Given the description of an element on the screen output the (x, y) to click on. 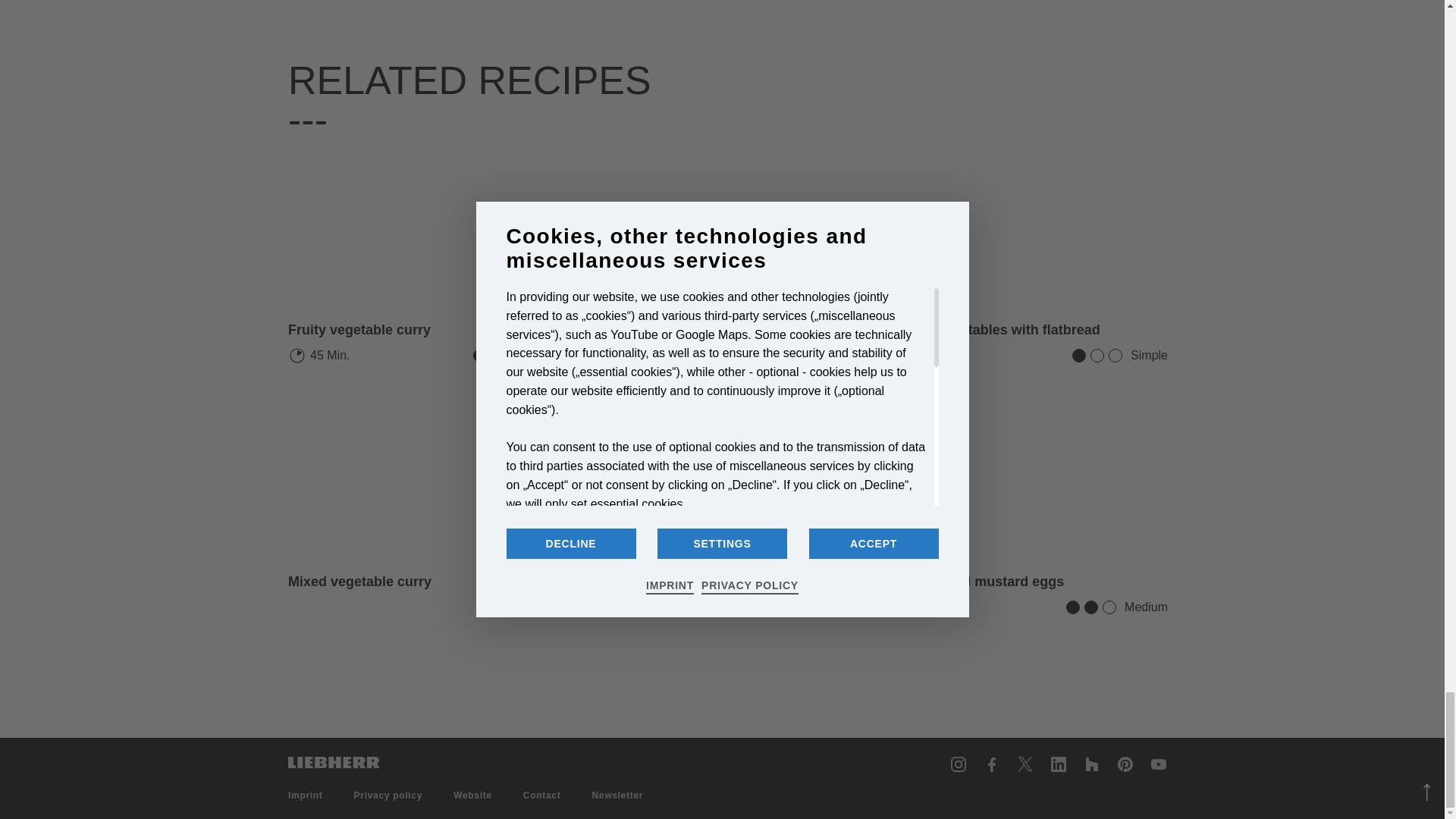
Curried vegetables with flatbread (992, 329)
Indian potato curry (727, 480)
Mixed vegetable curry (429, 480)
Fruity vegetable curry (359, 329)
Mixed vegetable curry (359, 581)
Lamb curry (727, 228)
Lamb curry (623, 329)
Indian potato curry (648, 581)
Fruity vegetable curry (429, 228)
Curried vegetables with flatbread (1026, 228)
